Given the description of an element on the screen output the (x, y) to click on. 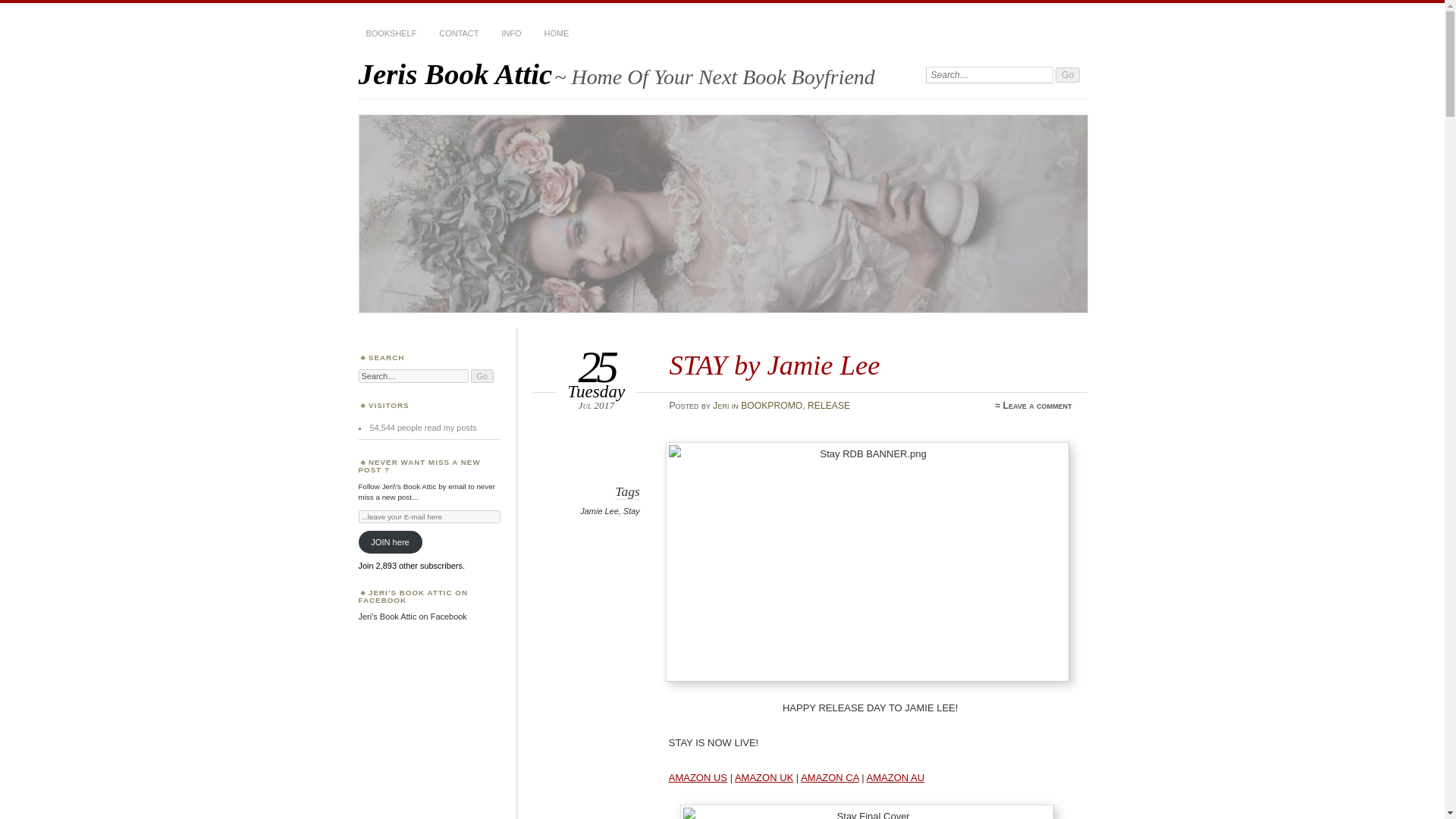
Stay (631, 510)
BOOKPROMO (771, 405)
Jeri (721, 405)
Go (1067, 74)
Go (1067, 74)
Leave a comment (1037, 405)
Jeris Book Attic (454, 73)
Jamie Lee (598, 510)
AMAZON AU (895, 777)
